Given the description of an element on the screen output the (x, y) to click on. 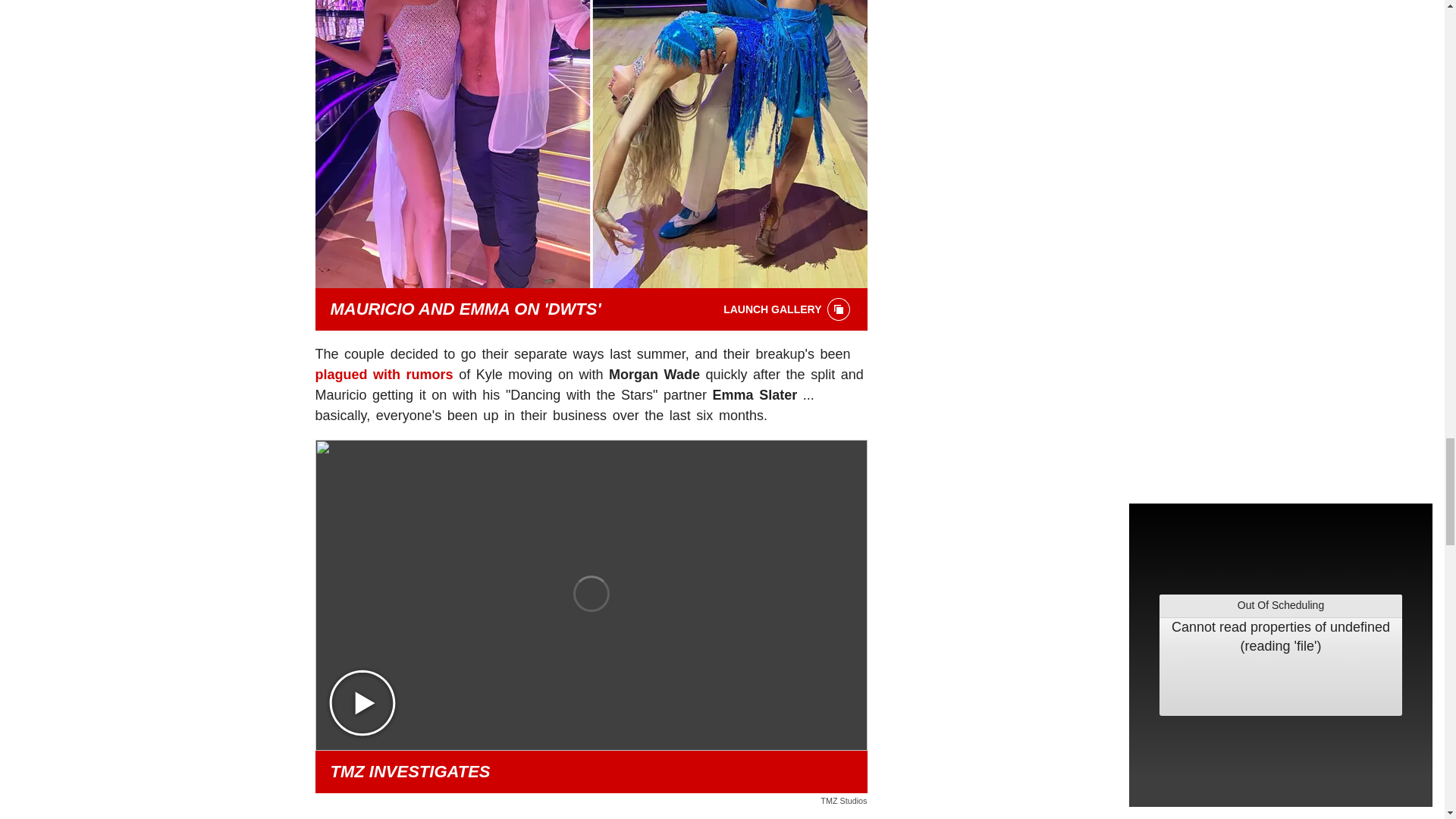
GALLERY (838, 308)
